Given the description of an element on the screen output the (x, y) to click on. 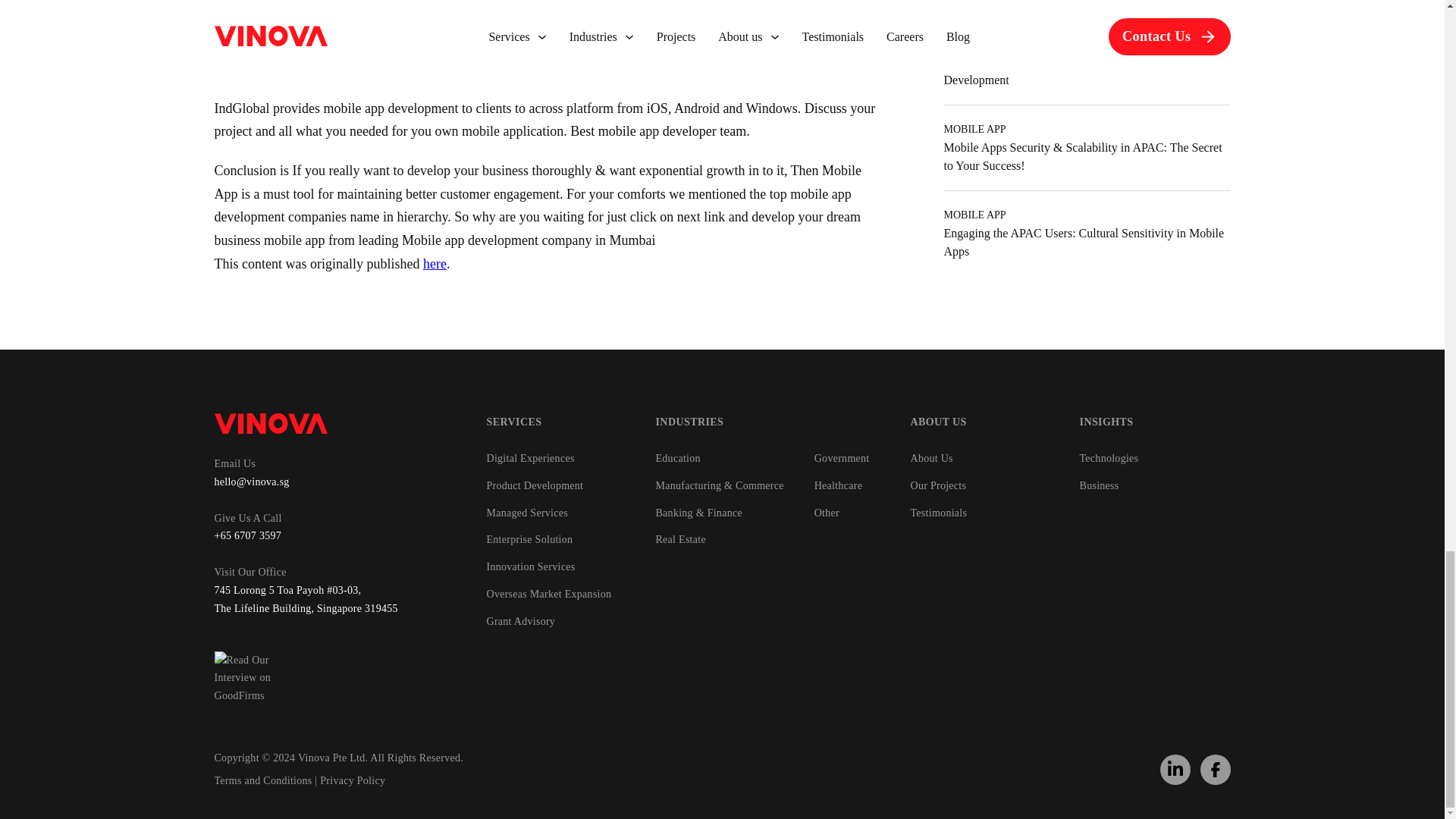
Linkedin (1174, 769)
Terms and Conditions  (262, 780)
Privacy Policy  (352, 780)
Read Our Interview on GoodFirms (259, 678)
Facebook (1215, 769)
